Given the description of an element on the screen output the (x, y) to click on. 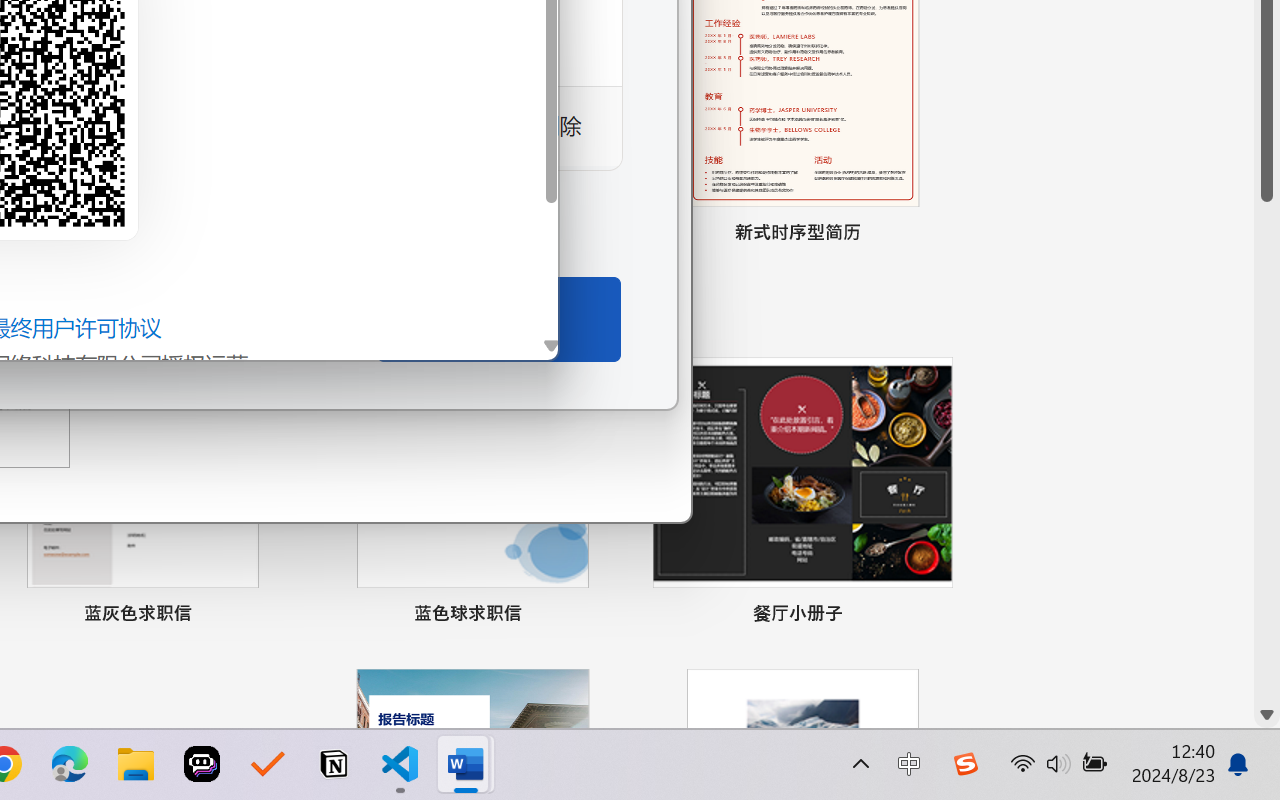
Page down (1267, 451)
